Given the description of an element on the screen output the (x, y) to click on. 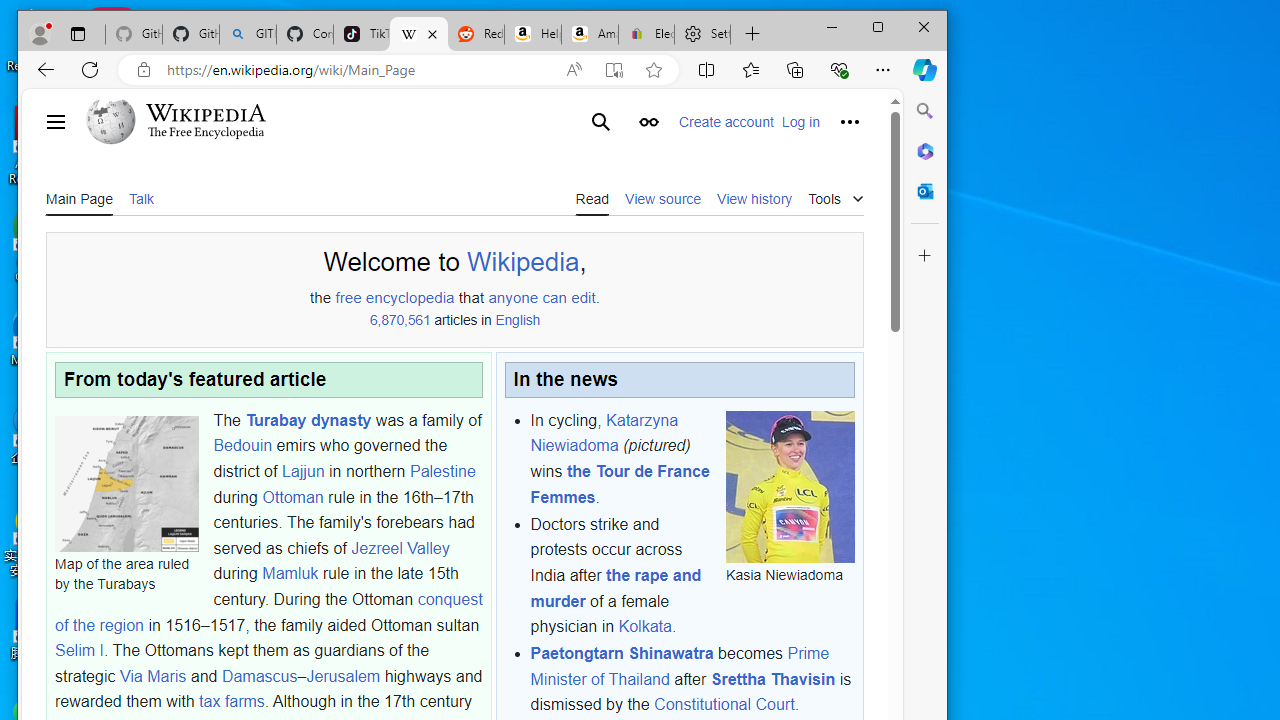
free (348, 297)
anyone can edit (541, 297)
Wikipedia (205, 112)
the rape and murder (615, 587)
Ottoman (292, 497)
Read (592, 197)
Palestine (442, 471)
View history (754, 197)
Map of the area ruled by the Turabays (126, 483)
